Given the description of an element on the screen output the (x, y) to click on. 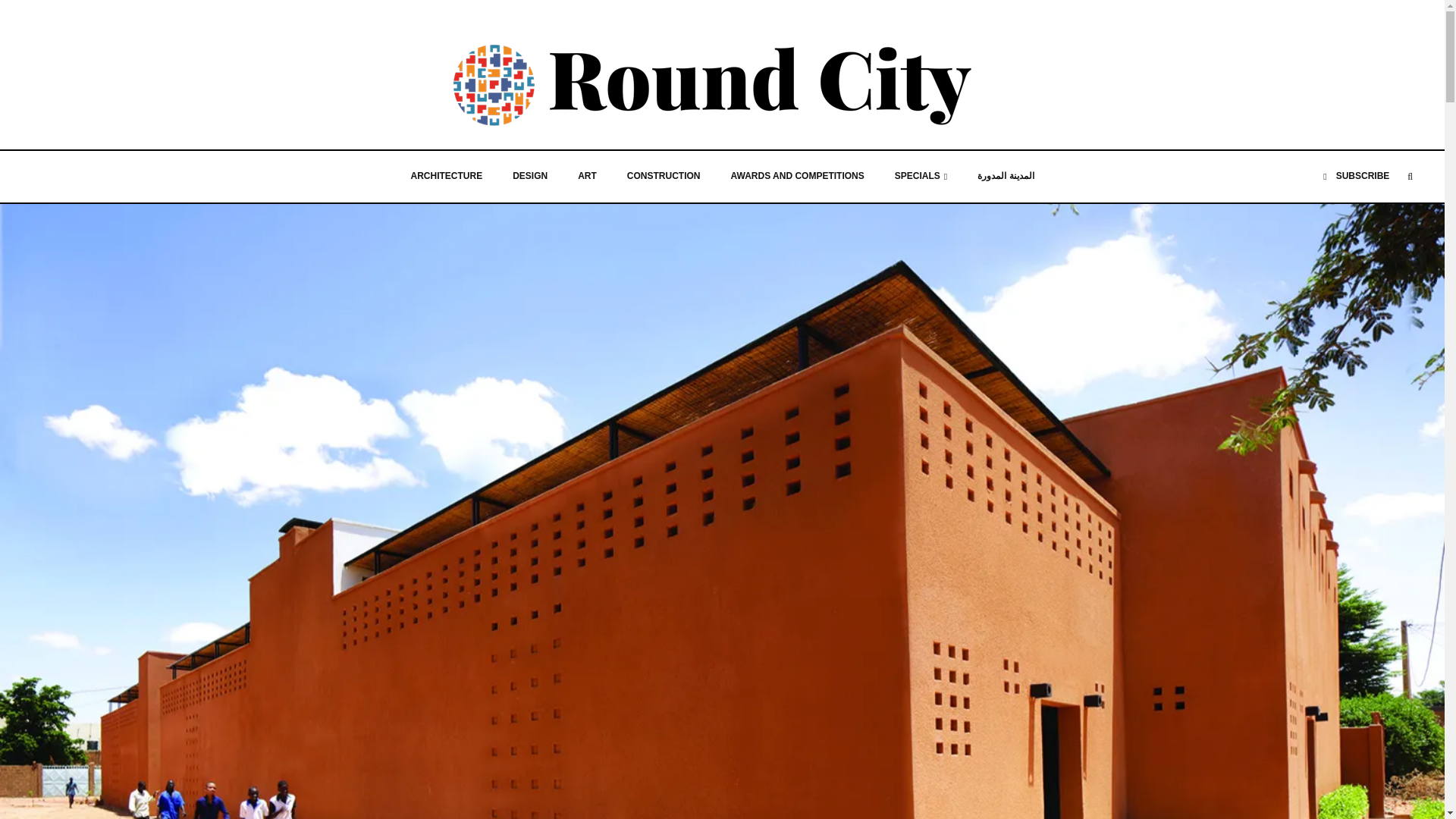
SPECIALS (920, 176)
ART (586, 176)
AWARDS AND COMPETITIONS (797, 176)
SUBSCRIBE (1355, 176)
DESIGN (529, 176)
ARCHITECTURE (446, 176)
CONSTRUCTION (663, 176)
